Given the description of an element on the screen output the (x, y) to click on. 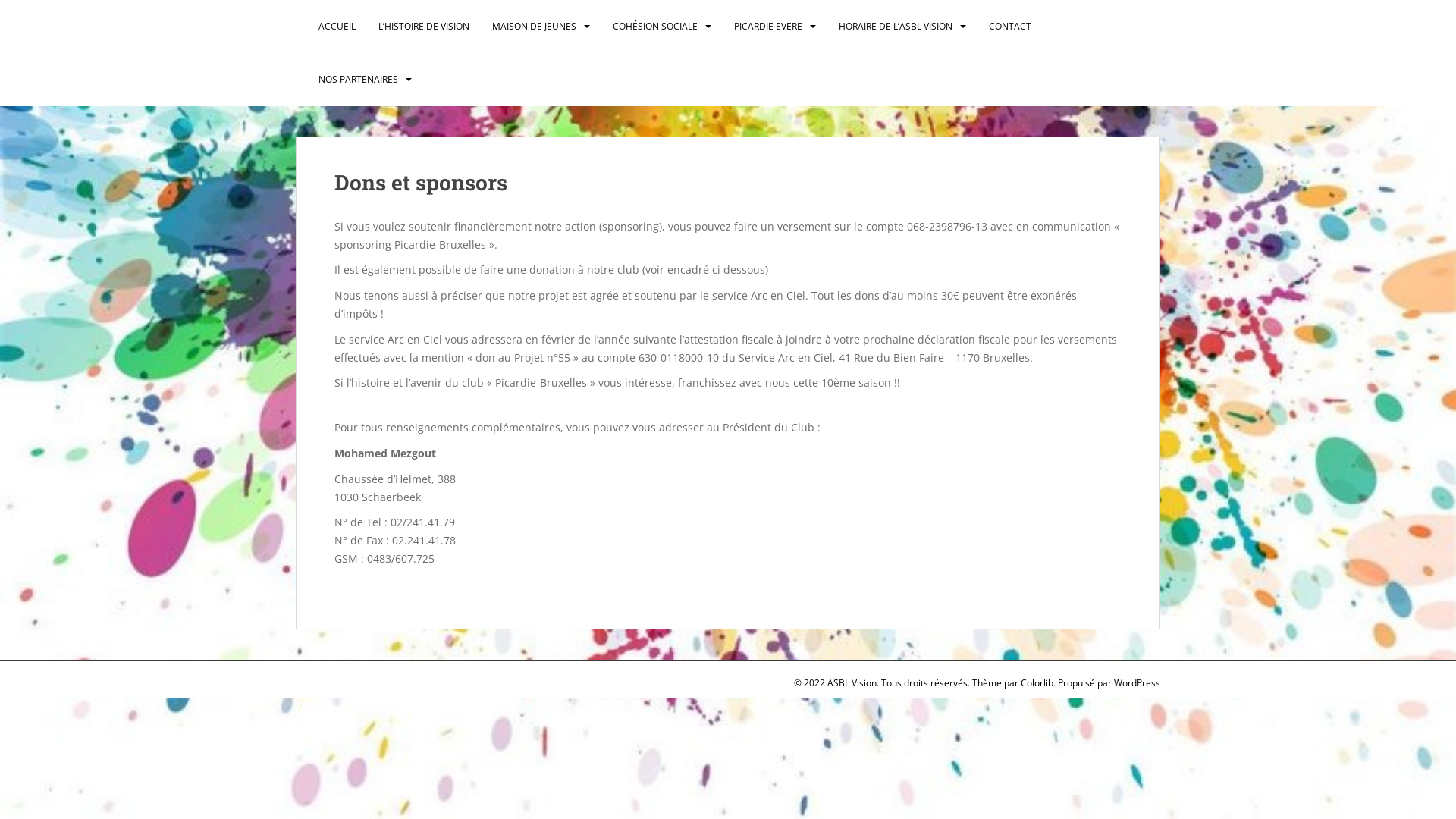
NOS PARTENAIRES Element type: text (358, 79)
ASBL Vision Element type: text (351, 26)
Colorlib Element type: text (1036, 682)
CONTACT Element type: text (1009, 26)
PICARDIE EVERE Element type: text (768, 26)
MAISON DE JEUNES Element type: text (534, 26)
ACCUEIL Element type: text (336, 26)
WordPress Element type: text (1136, 682)
